Given the description of an element on the screen output the (x, y) to click on. 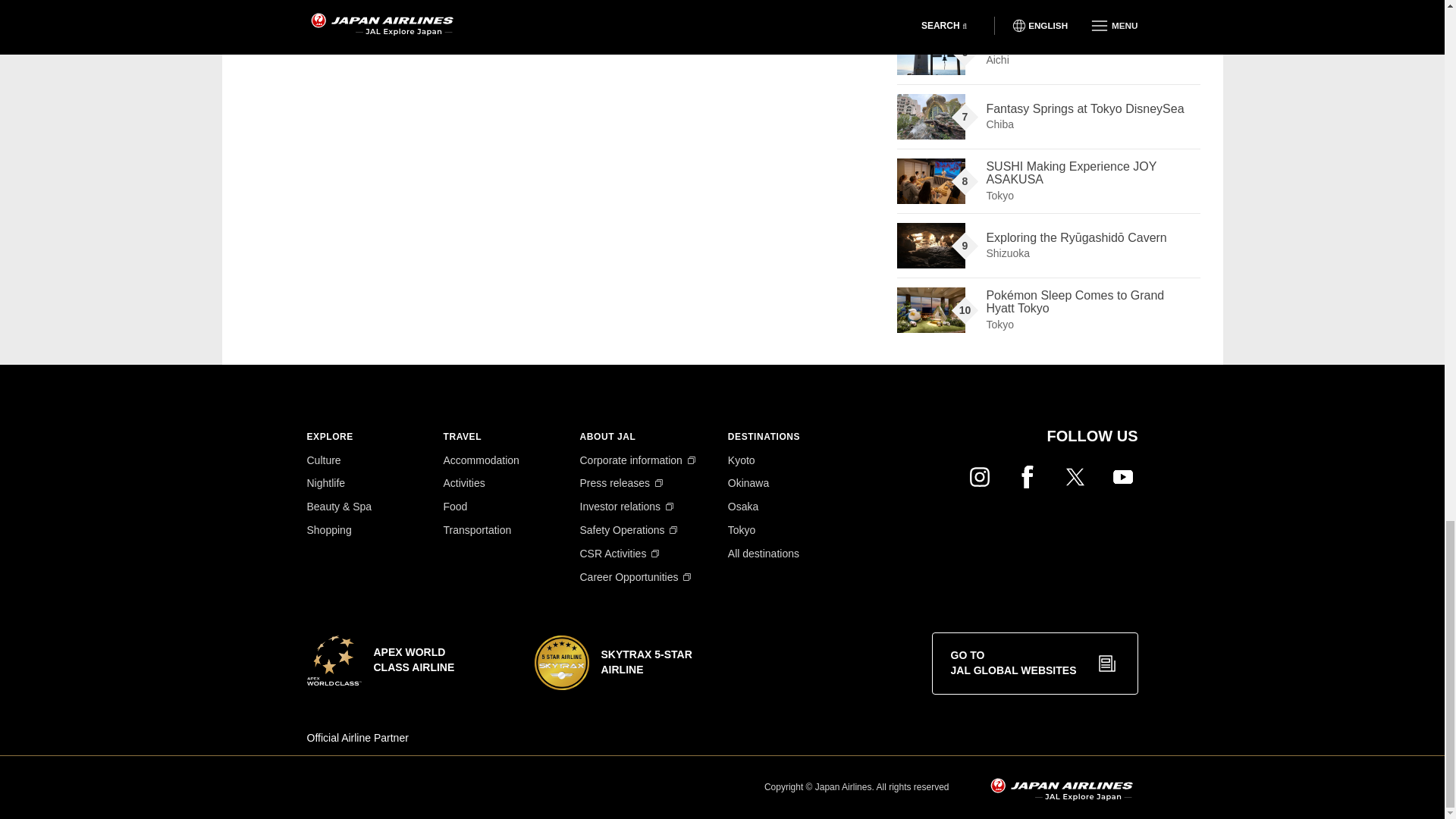
Minamiboso Tateyama Stay (930, 5)
SUSHI Making Experience JOY ASAKUSA (930, 180)
Fantasy Springs at Tokyo DisneySea (930, 116)
Relaxing at the Nomazaki Lighthouse (930, 52)
